Given the description of an element on the screen output the (x, y) to click on. 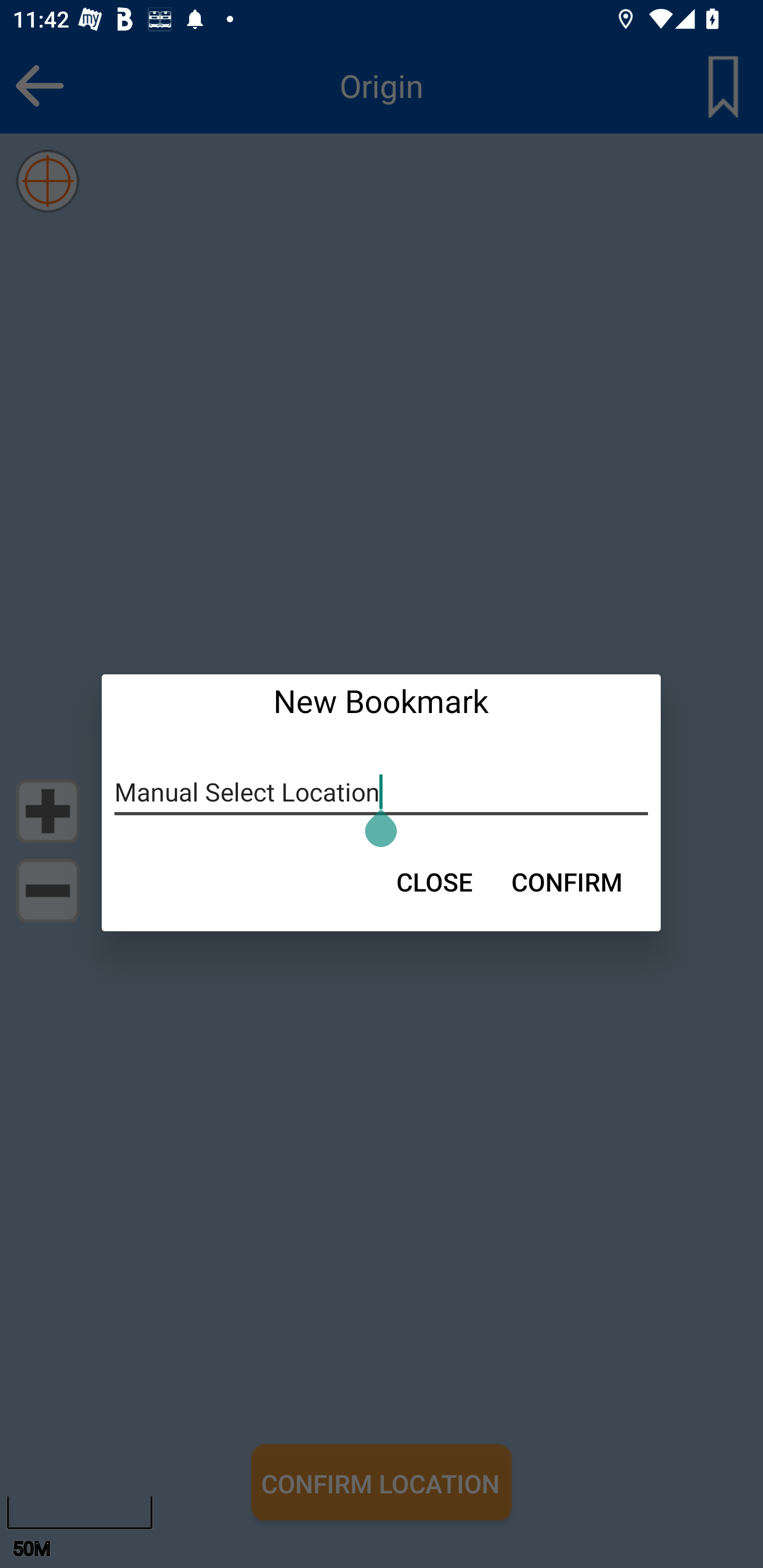
Manual Select Location (381, 792)
CLOSE (434, 881)
CONFIRM (566, 881)
